Given the description of an element on the screen output the (x, y) to click on. 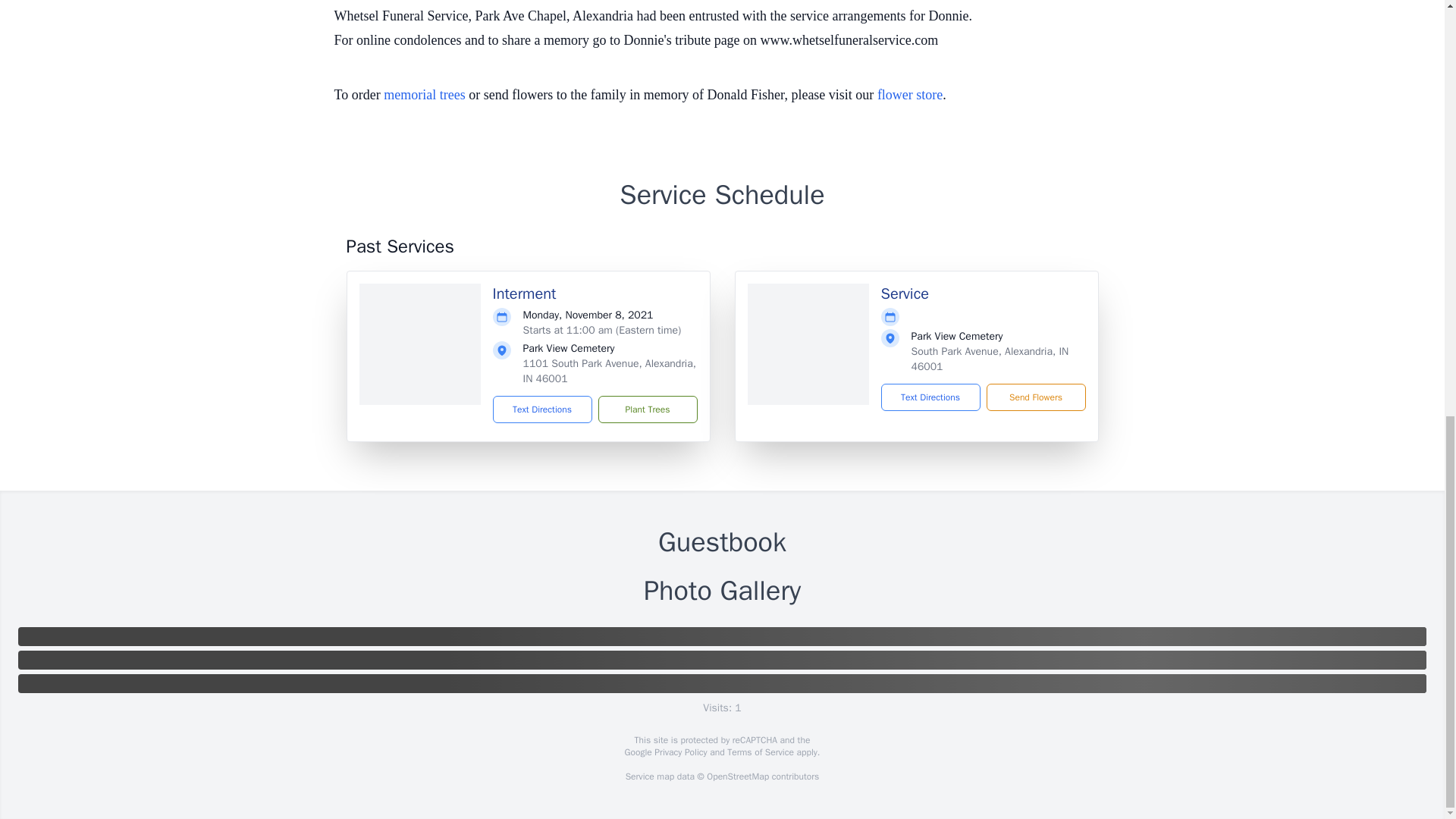
memorial trees (424, 94)
1101 South Park Avenue, Alexandria, IN 46001 (608, 370)
Plant Trees (646, 409)
OpenStreetMap (737, 776)
Terms of Service (759, 752)
Send Flowers (1034, 397)
Text Directions (542, 409)
Text Directions (929, 397)
South Park Avenue, Alexandria, IN 46001 (989, 358)
flower store (909, 94)
Privacy Policy (679, 752)
